Given the description of an element on the screen output the (x, y) to click on. 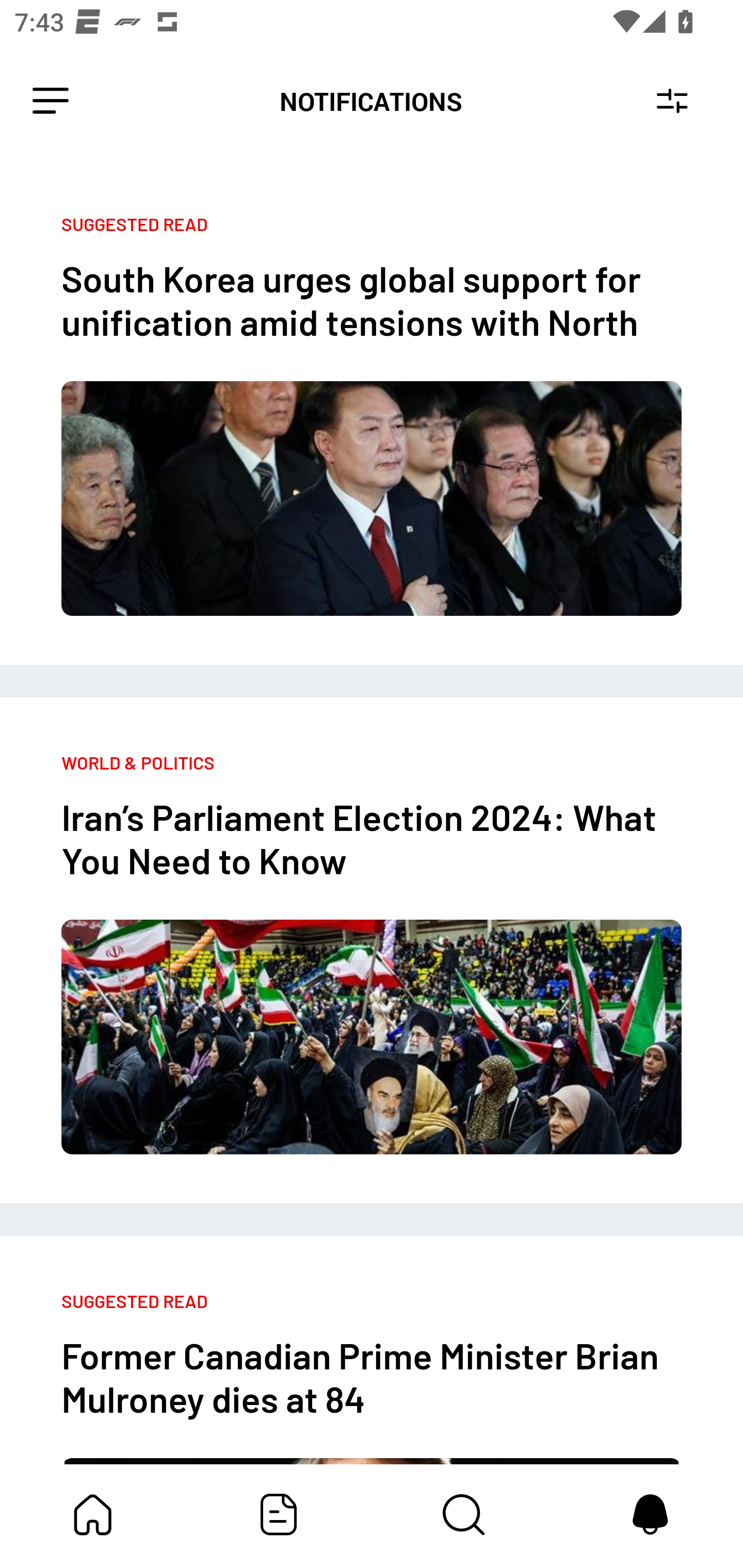
Leading Icon (50, 101)
Notification Settings (672, 101)
My Bundle (92, 1514)
Featured (278, 1514)
Content Store (464, 1514)
